Given the description of an element on the screen output the (x, y) to click on. 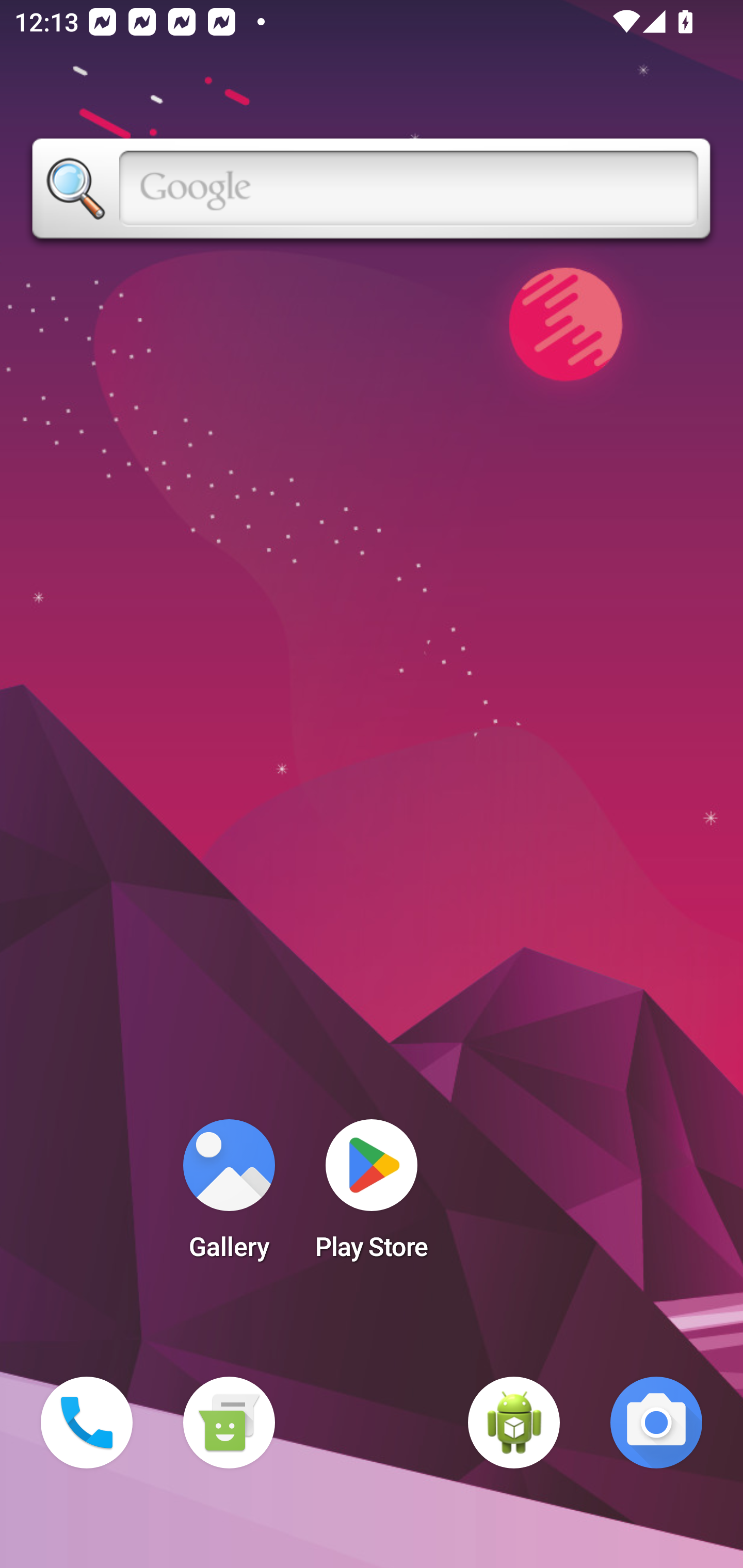
Gallery (228, 1195)
Play Store (371, 1195)
Phone (86, 1422)
Messaging (228, 1422)
WebView Browser Tester (513, 1422)
Camera (656, 1422)
